Given the description of an element on the screen output the (x, y) to click on. 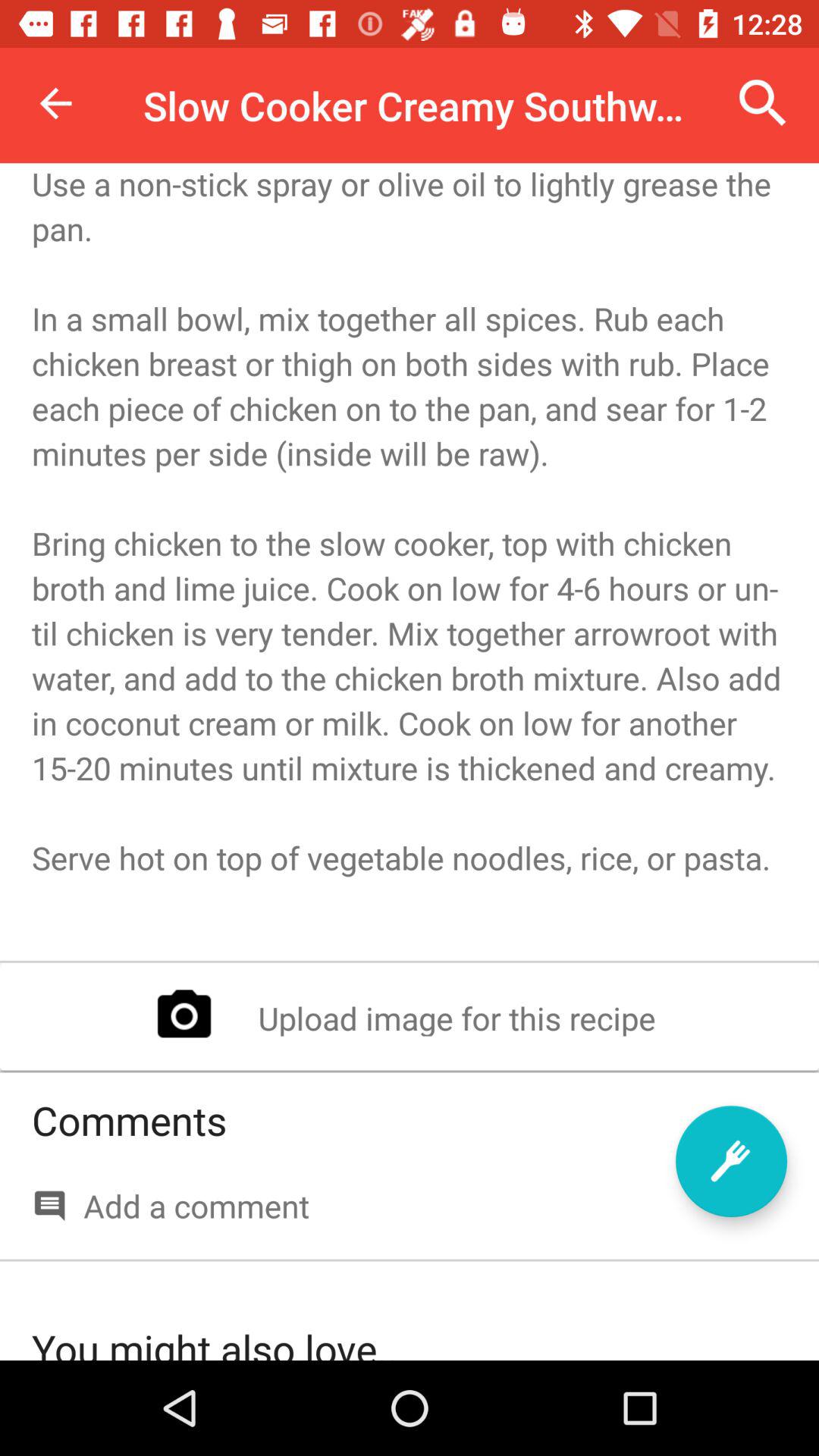
select the item at the top right corner (763, 103)
